Given the description of an element on the screen output the (x, y) to click on. 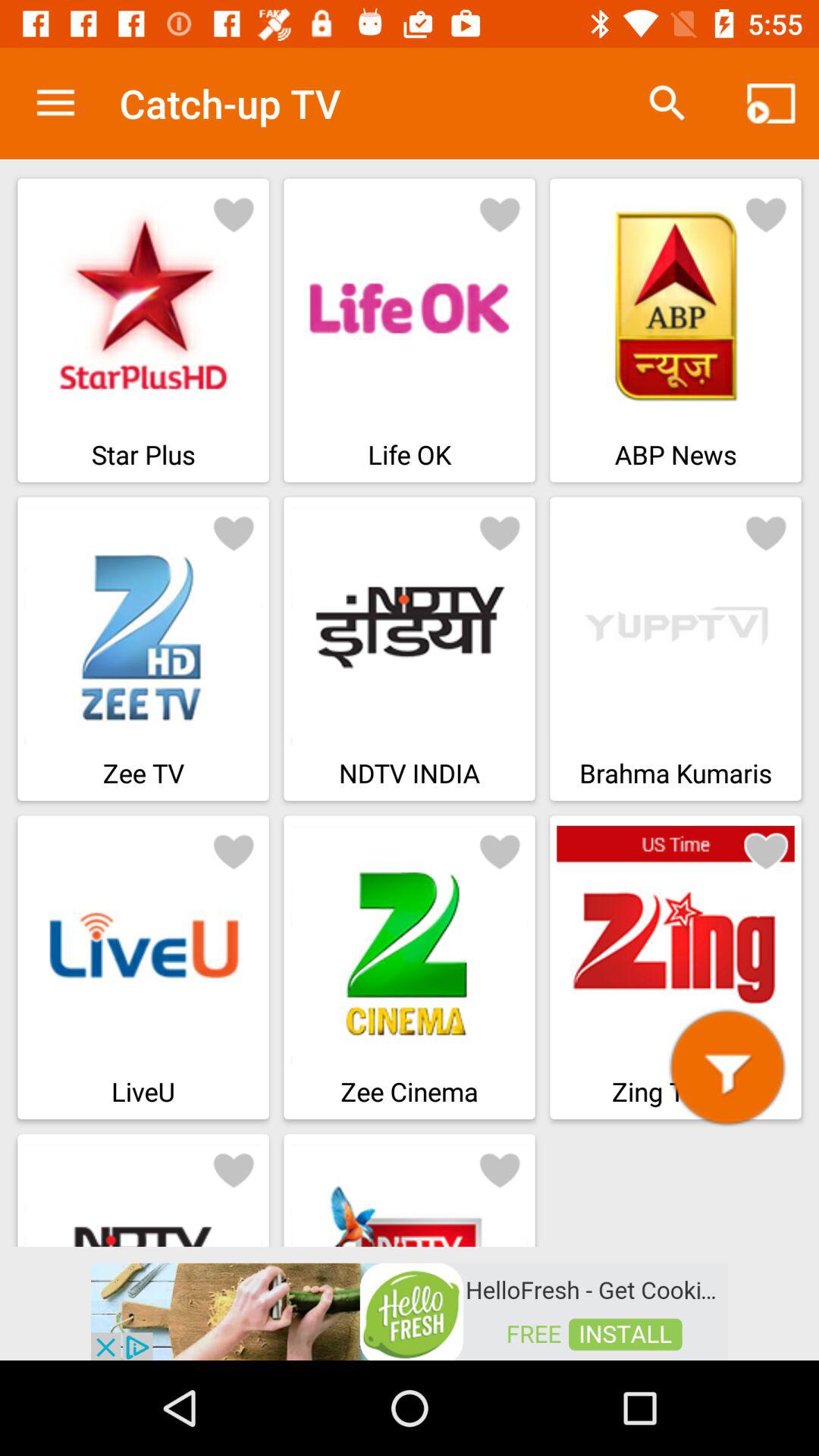
select favourite (499, 532)
